Given the description of an element on the screen output the (x, y) to click on. 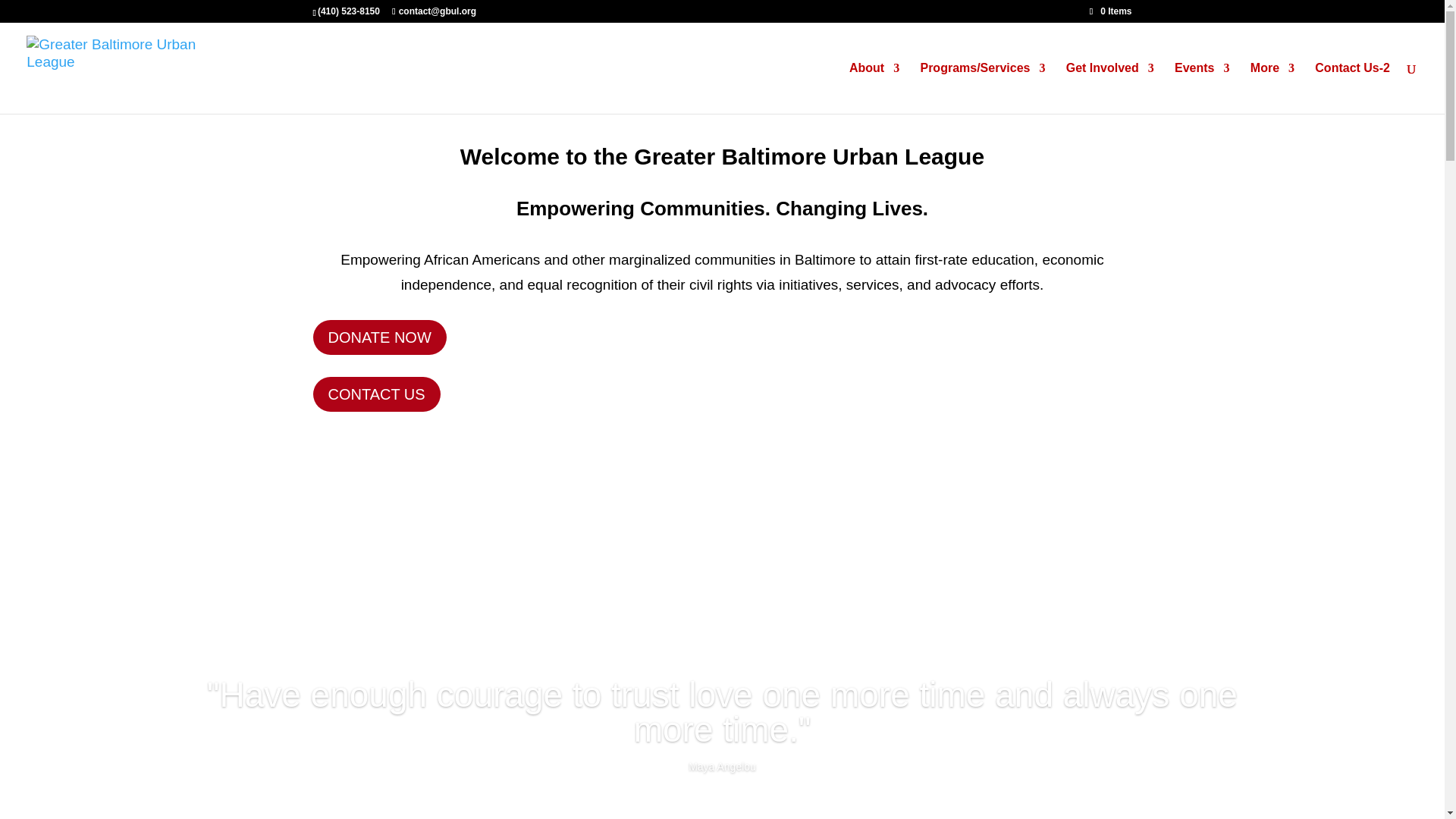
Contact Us-2 (1352, 88)
About (873, 88)
CONTACT US (376, 393)
DONATE NOW (379, 337)
Get Involved (1109, 88)
0 Items (1110, 10)
Events (1201, 88)
